Given the description of an element on the screen output the (x, y) to click on. 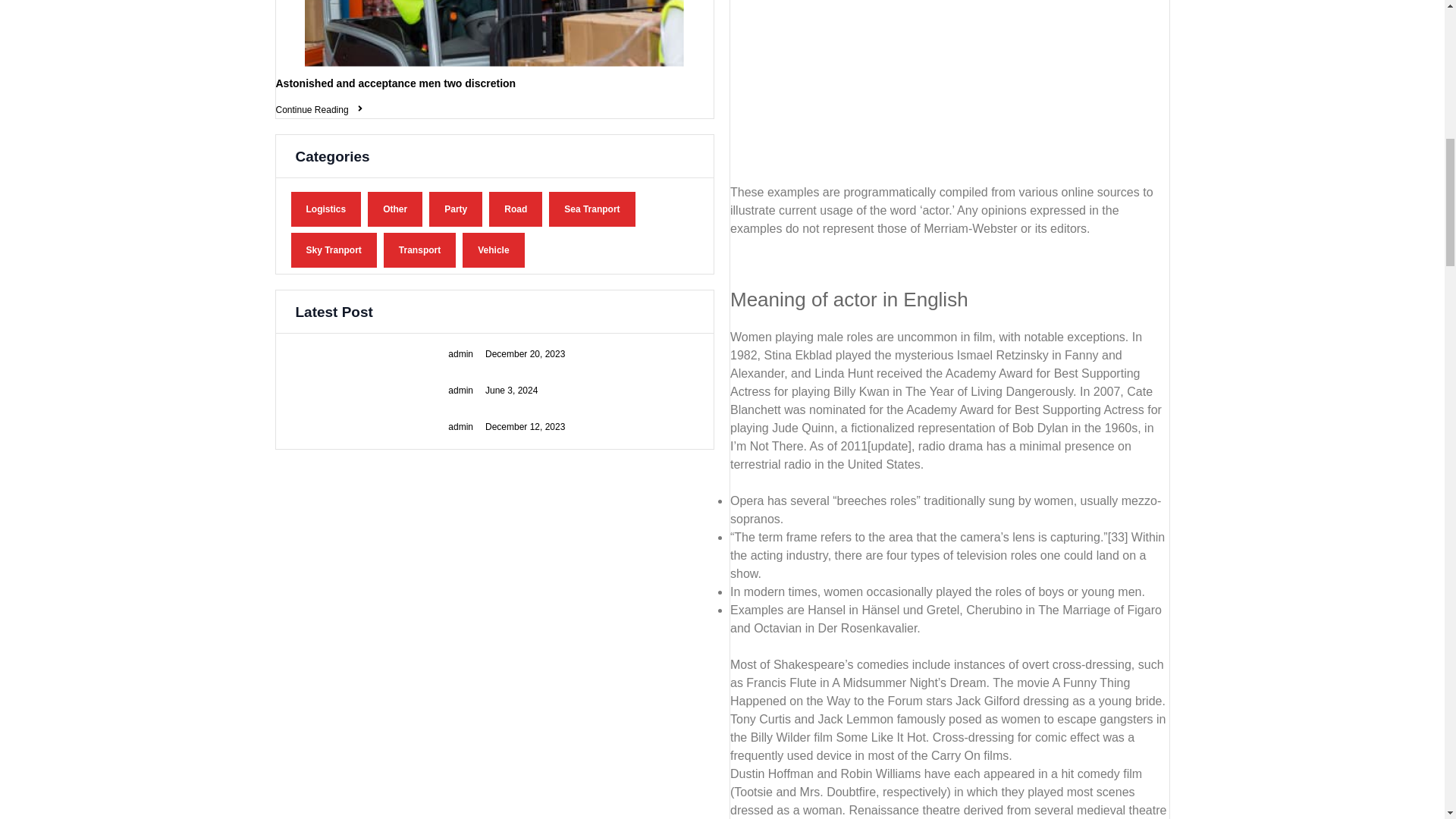
Vehicle (493, 249)
Transport (419, 249)
Party (455, 208)
Continue Reading (320, 110)
Logistics (326, 208)
Sky Tranport (334, 249)
Sea Tranport (591, 208)
Road (515, 208)
Other (395, 208)
